Given the description of an element on the screen output the (x, y) to click on. 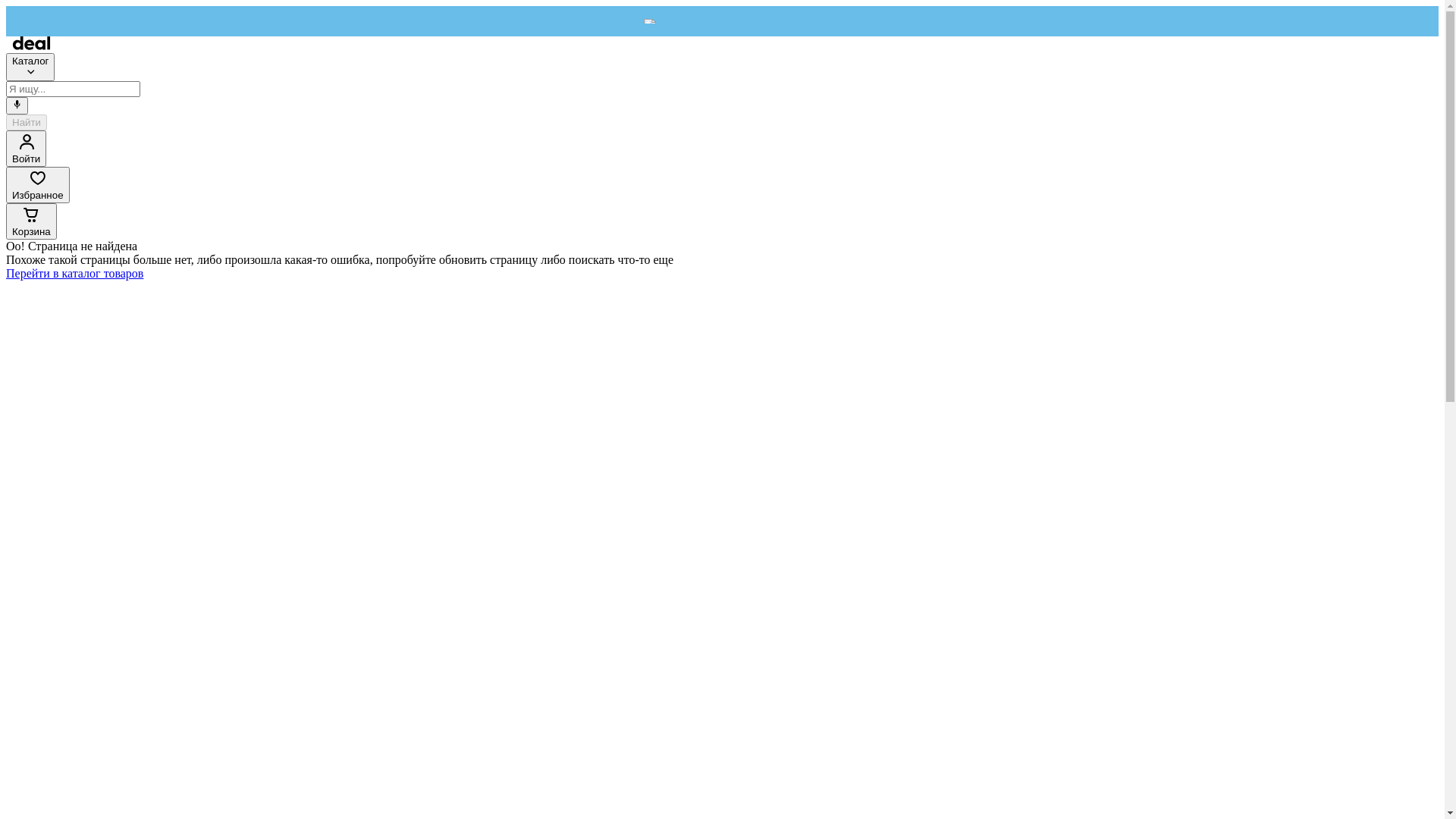
deal.by Element type: hover (31, 45)
